Given the description of an element on the screen output the (x, y) to click on. 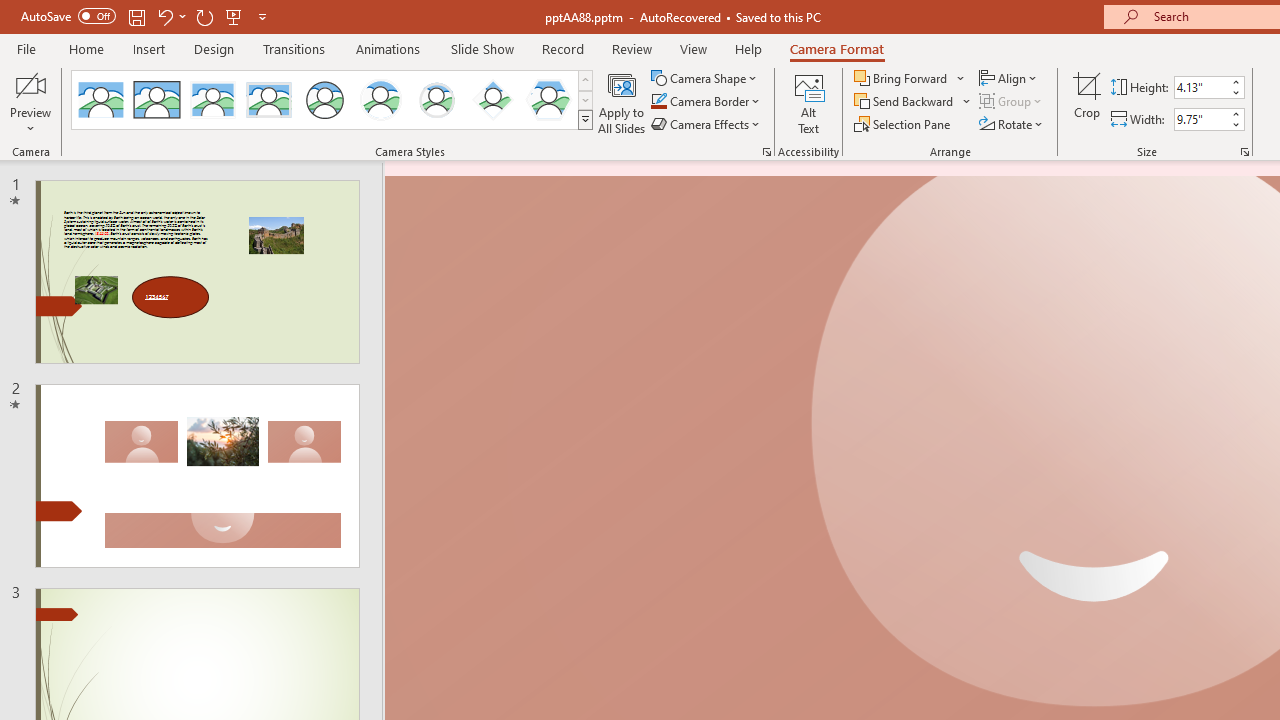
Camera Format (836, 48)
Camera Border (706, 101)
Center Shadow Circle (381, 100)
Group (1012, 101)
Apply to All Slides (621, 102)
Camera Effects (706, 124)
Bring Forward (902, 78)
Size and Position... (1244, 151)
